Given the description of an element on the screen output the (x, y) to click on. 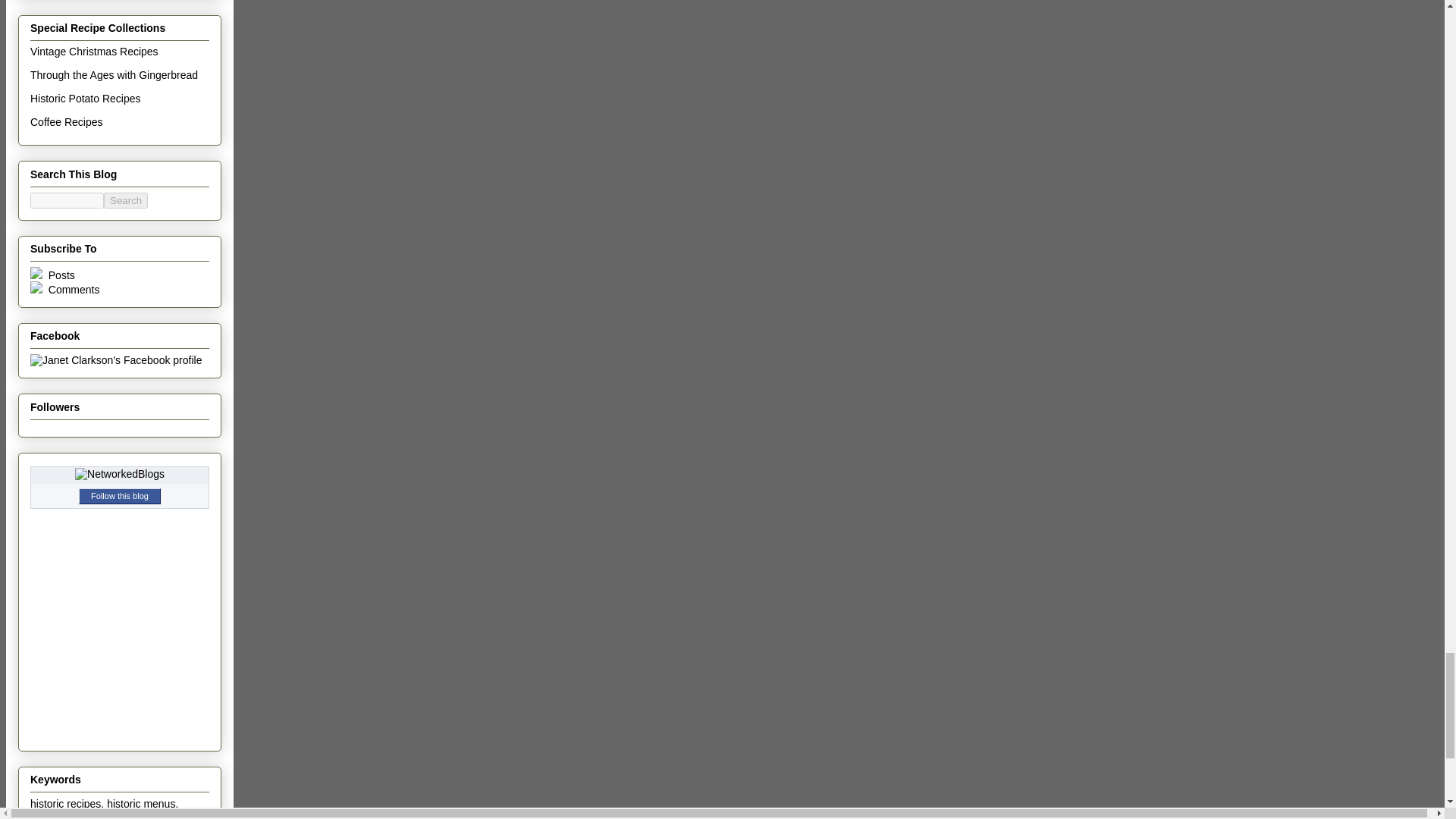
Search (125, 200)
Search (125, 200)
